Given the description of an element on the screen output the (x, y) to click on. 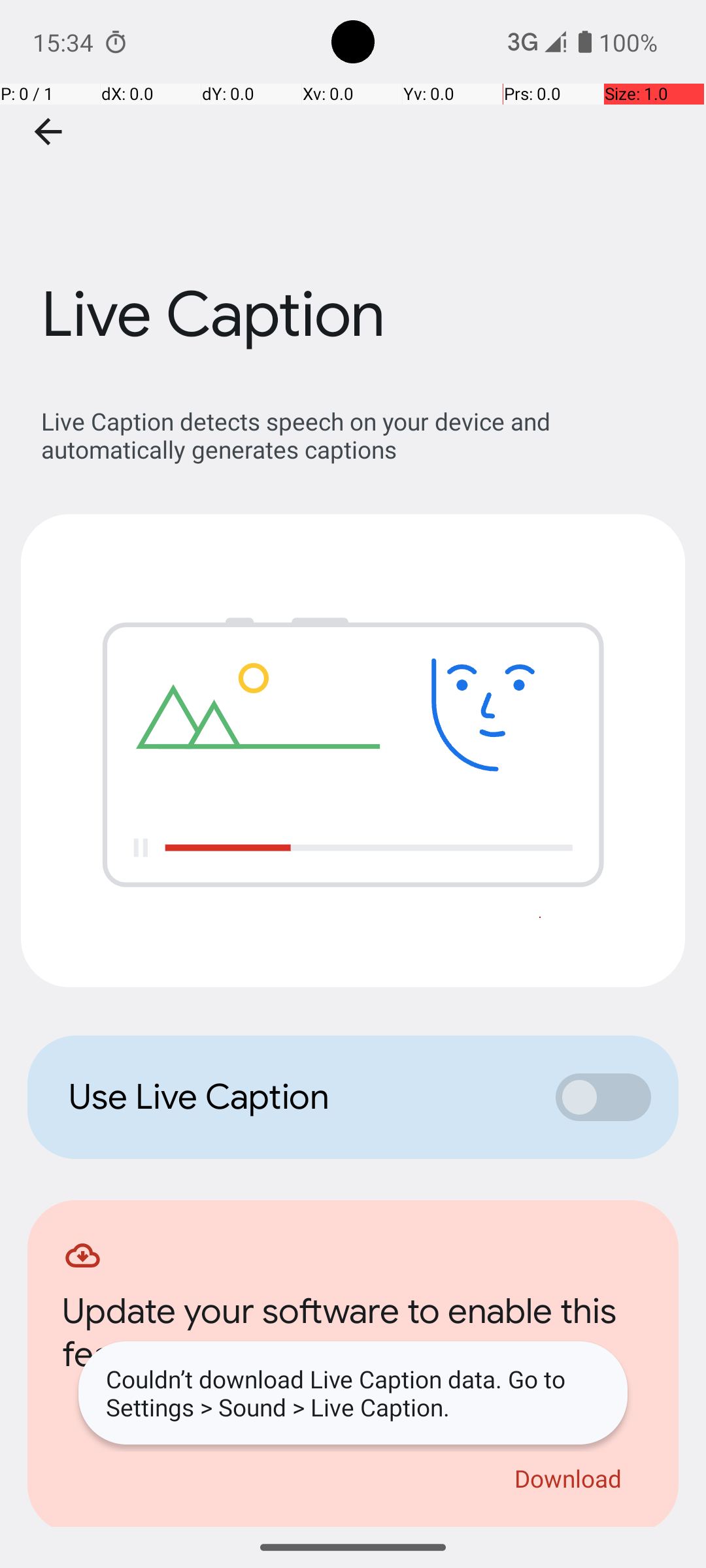
Live Caption Element type: android.widget.FrameLayout (353, 195)
Live Caption detects speech on your device and automatically generates captions Element type: android.widget.TextView (359, 434)
Use Live Caption Element type: android.widget.TextView (298, 1096)
Update your software to enable this feature. Element type: android.widget.TextView (352, 1336)
Download Element type: android.widget.Button (567, 1478)
